Given the description of an element on the screen output the (x, y) to click on. 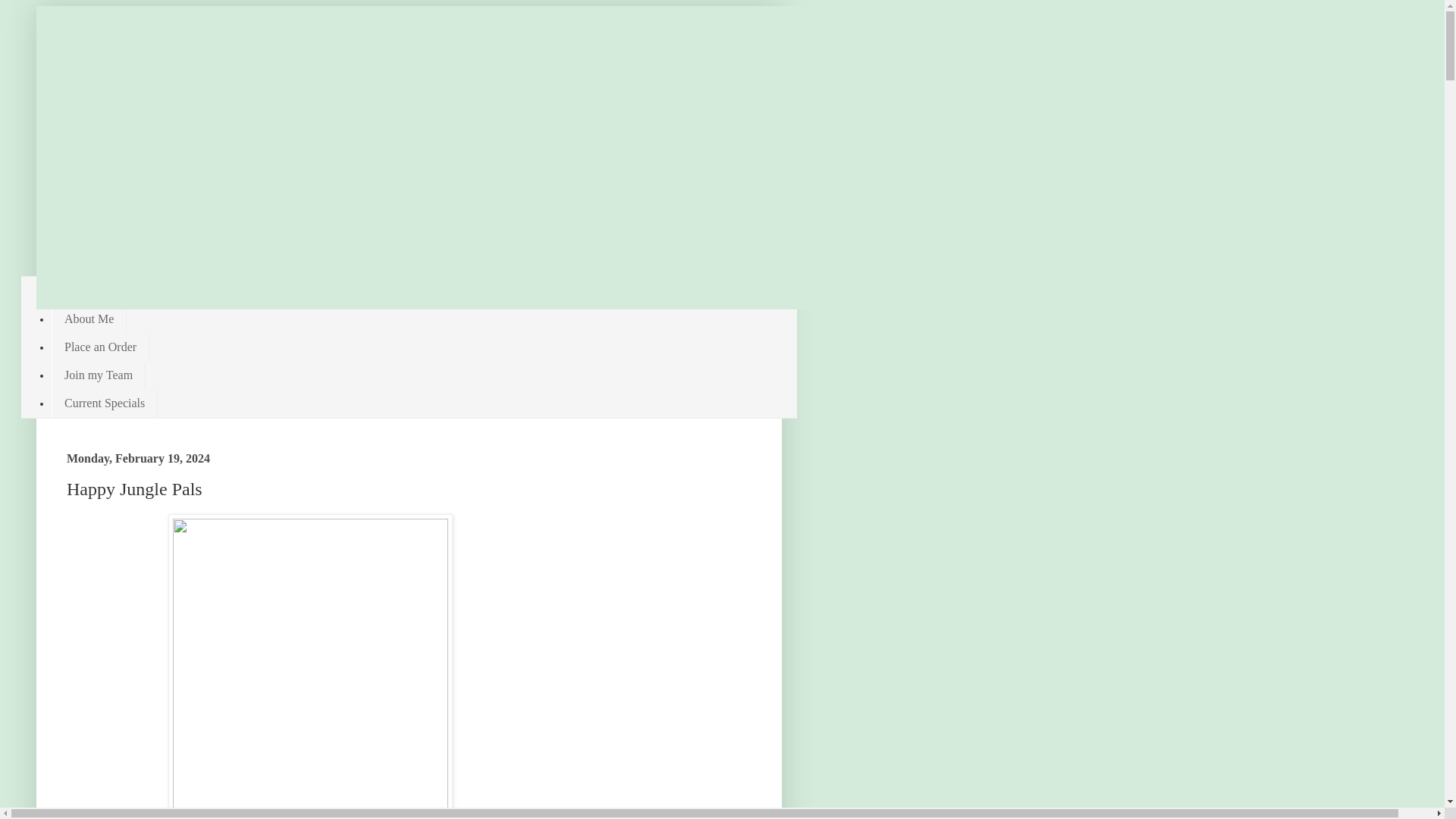
Place an Order (99, 346)
Current Specials (103, 403)
About Me (88, 318)
Join my Team (97, 375)
Home (78, 290)
